Given the description of an element on the screen output the (x, y) to click on. 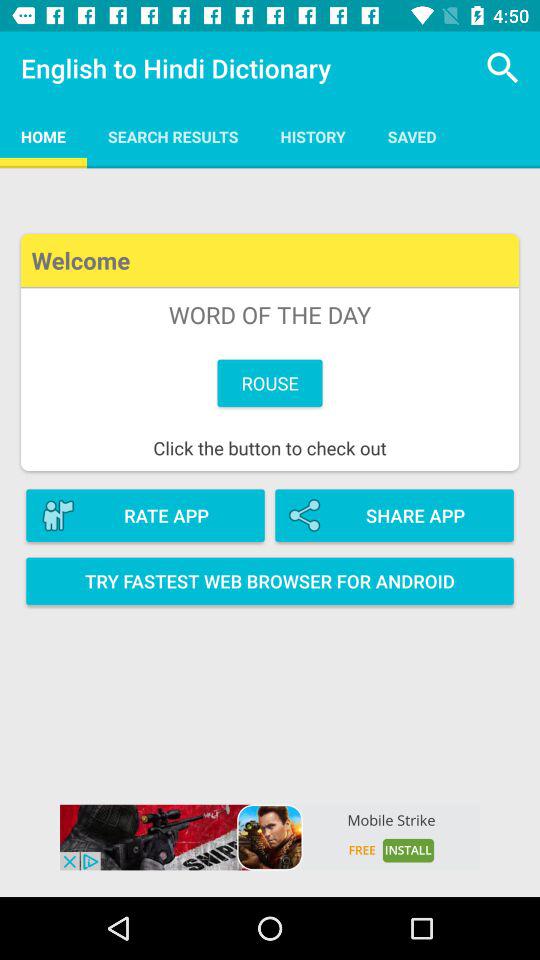
mobile strike (270, 837)
